Given the description of an element on the screen output the (x, y) to click on. 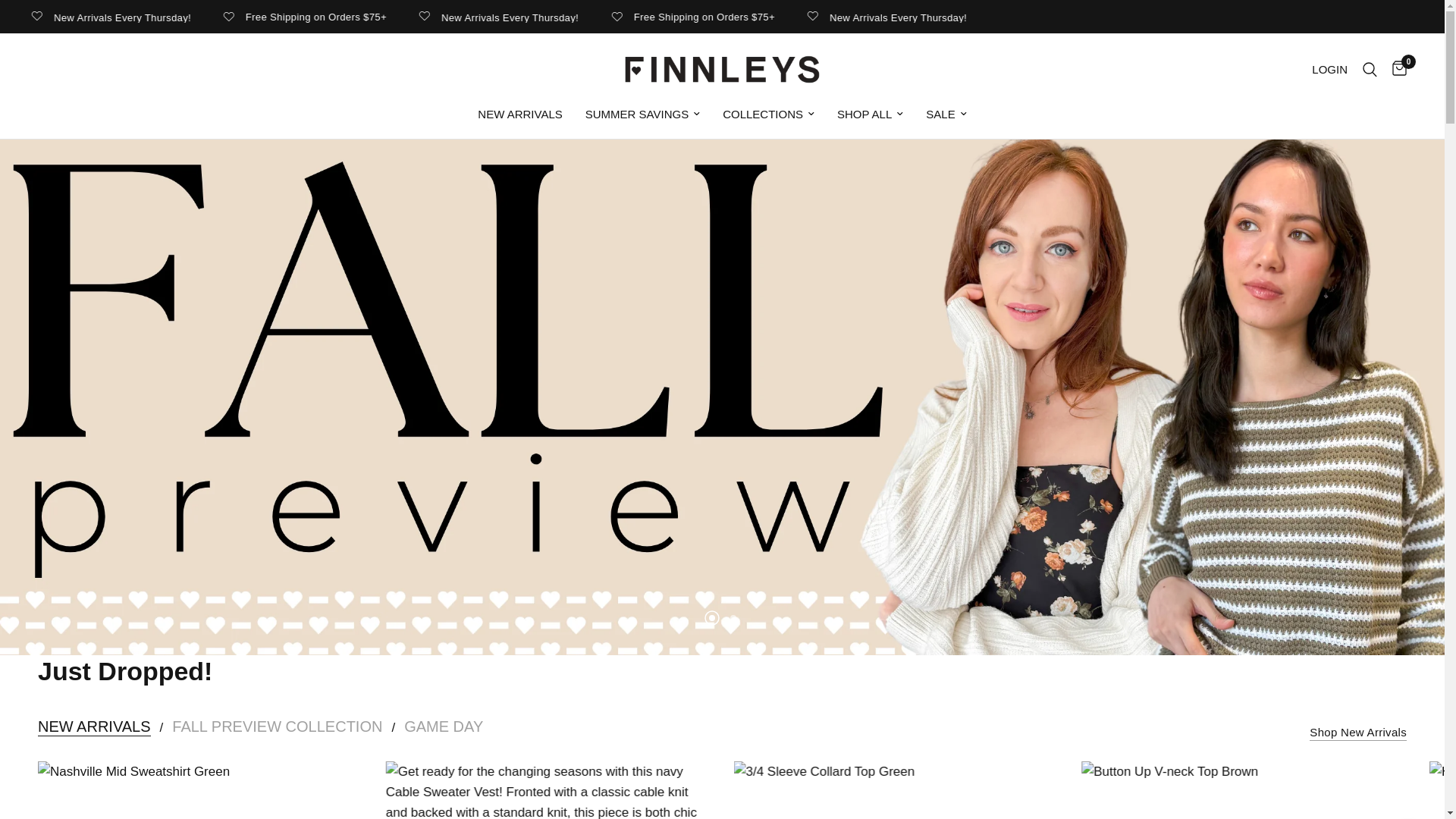
New Arrivals Every Thursday! (1095, 16)
New Arrivals Every Thursday! (322, 16)
New Arrivals Every Thursday! (708, 16)
